Given the description of an element on the screen output the (x, y) to click on. 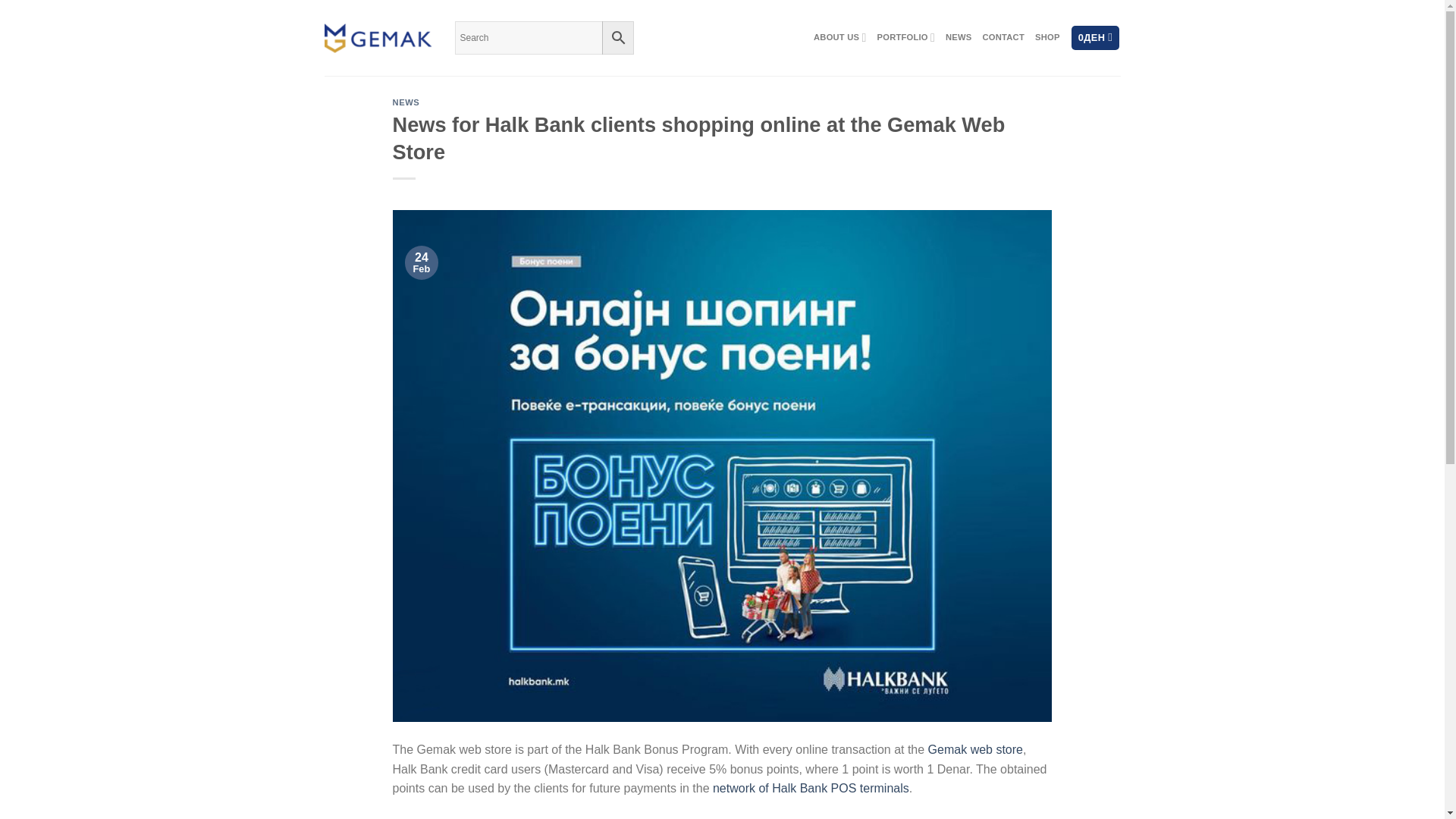
CONTACT (1003, 37)
Cart (1095, 37)
Gemak web store (975, 748)
GEMAK (378, 38)
PORTFOLIO (906, 37)
network of Halk Bank POS terminals (810, 788)
ABOUT US (839, 37)
NEWS (406, 102)
NEWS (957, 37)
